Given the description of an element on the screen output the (x, y) to click on. 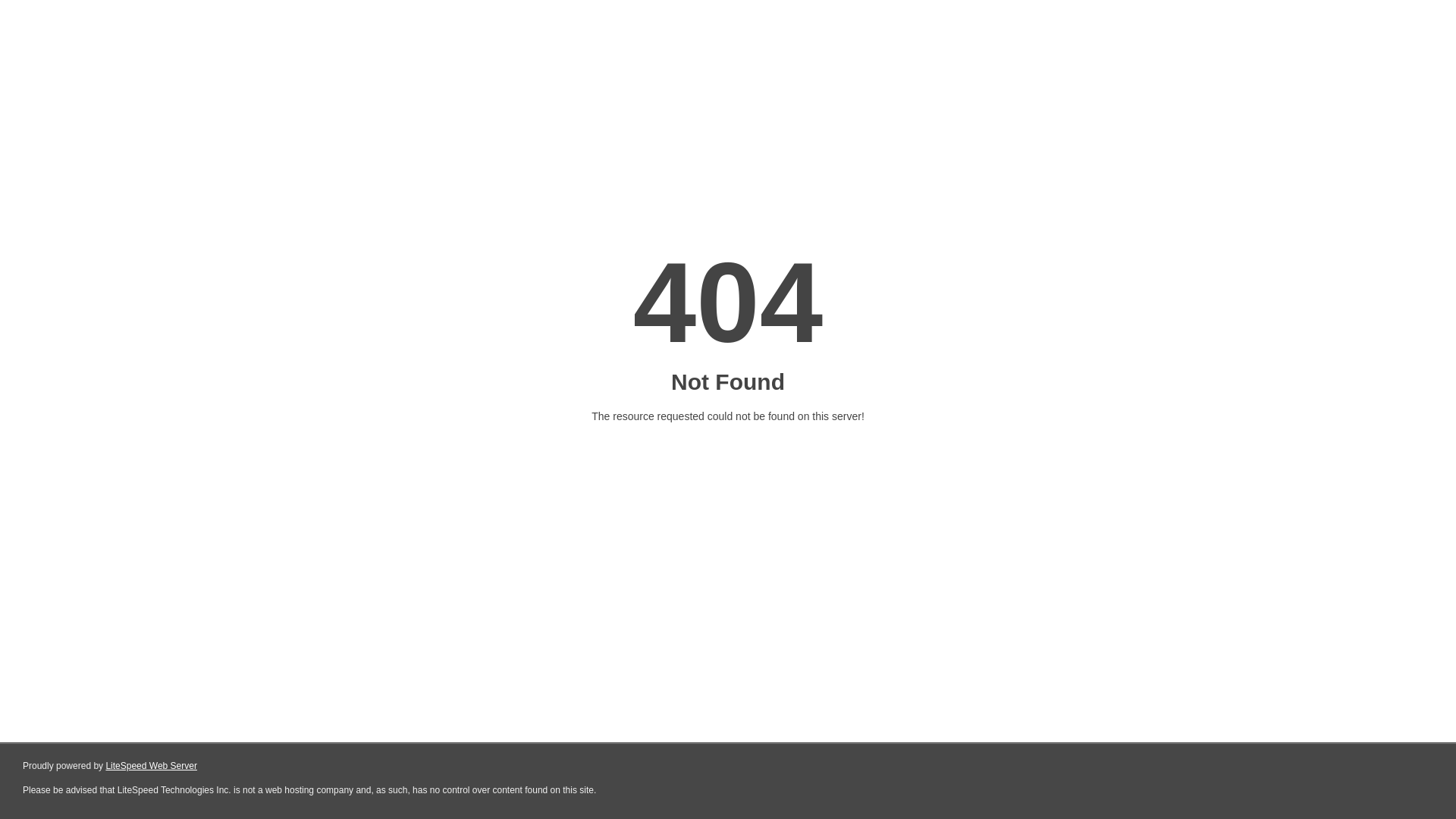
LiteSpeed Web Server Element type: text (151, 765)
